Given the description of an element on the screen output the (x, y) to click on. 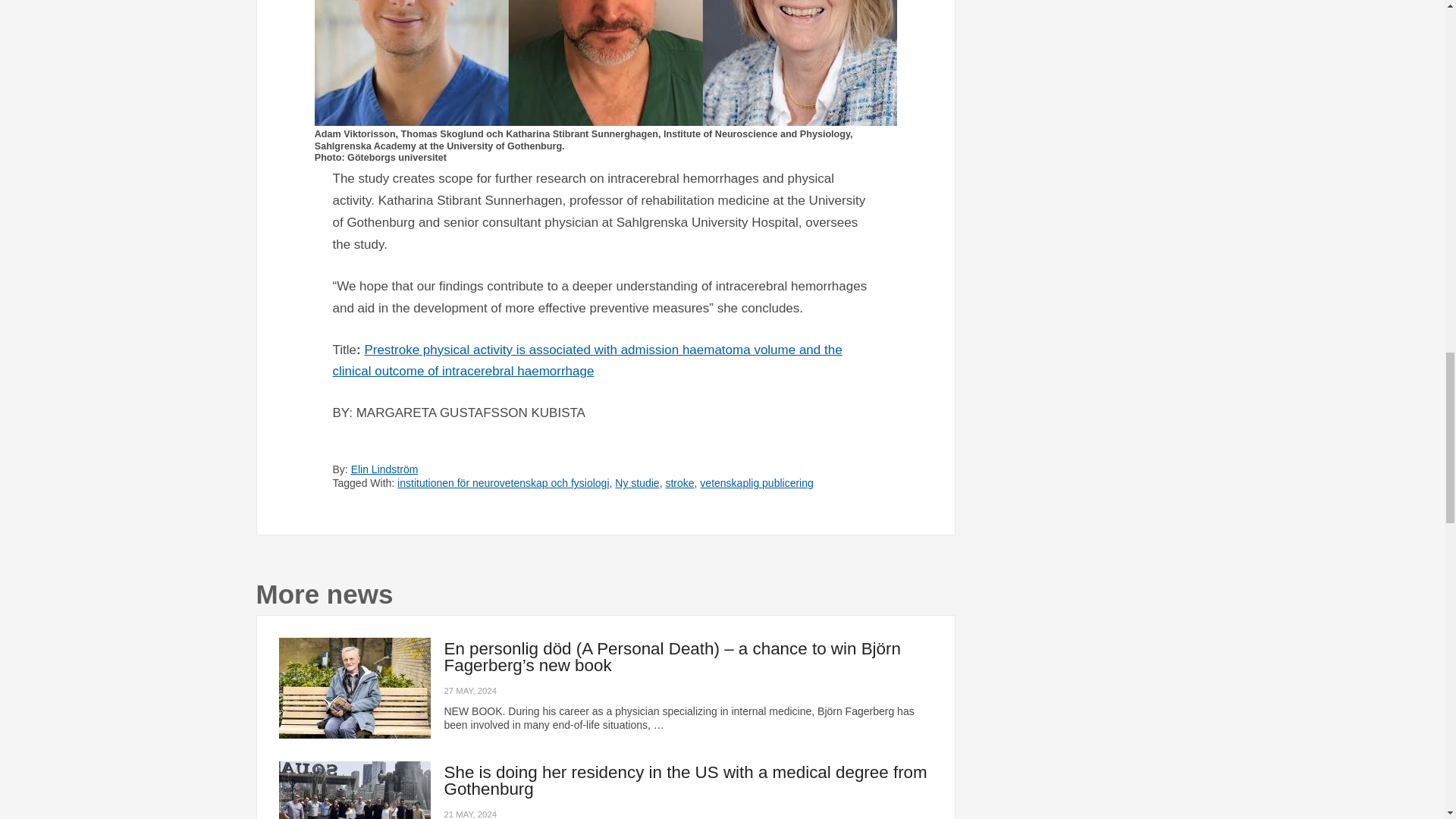
stroke (679, 482)
vetenskaplig publicering (756, 482)
Ny studie (636, 482)
